Given the description of an element on the screen output the (x, y) to click on. 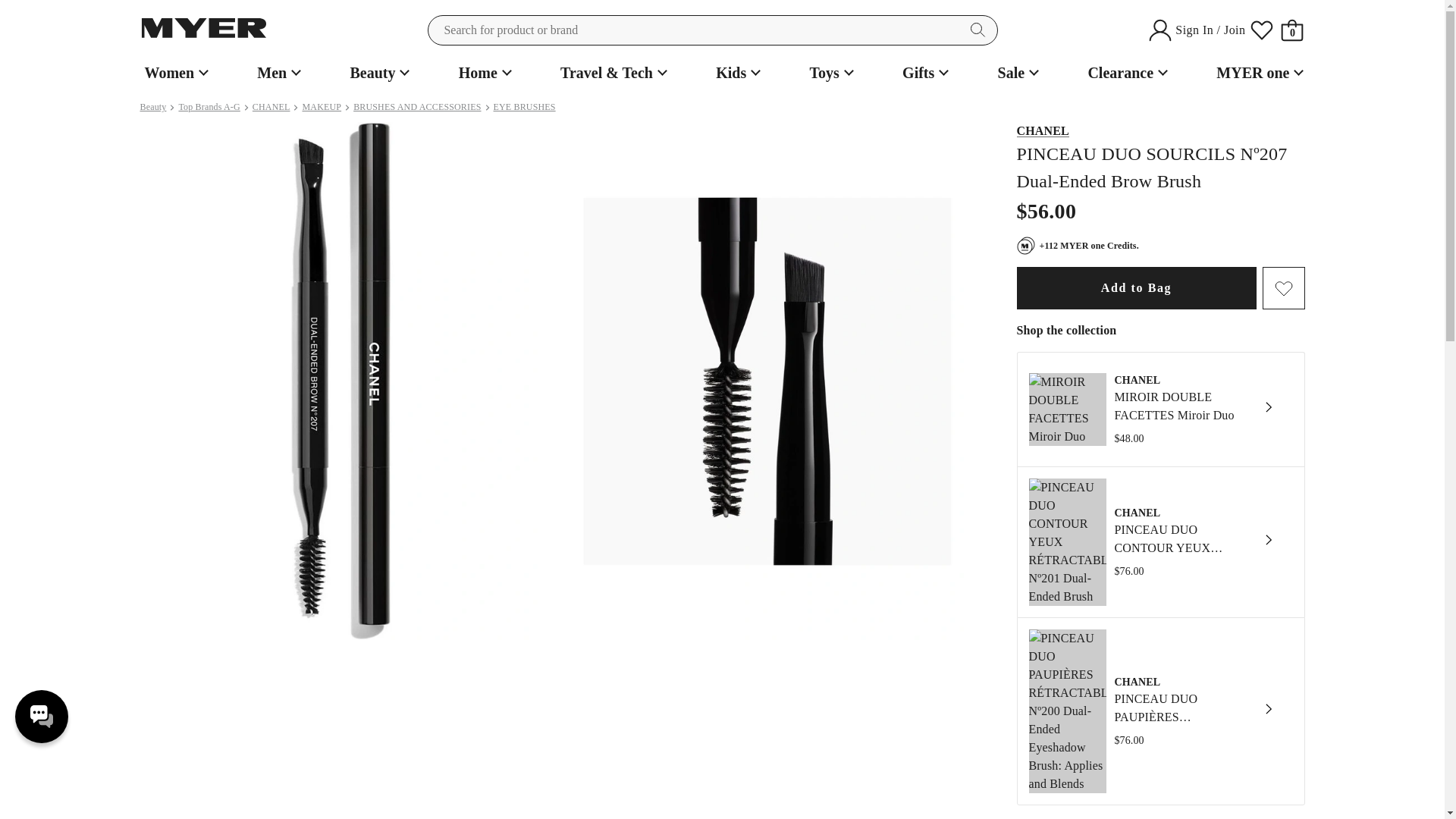
0 (1291, 30)
Click here to toggle the virtual assistant (41, 716)
Men (276, 72)
Women (174, 72)
Beauty (377, 72)
